Given the description of an element on the screen output the (x, y) to click on. 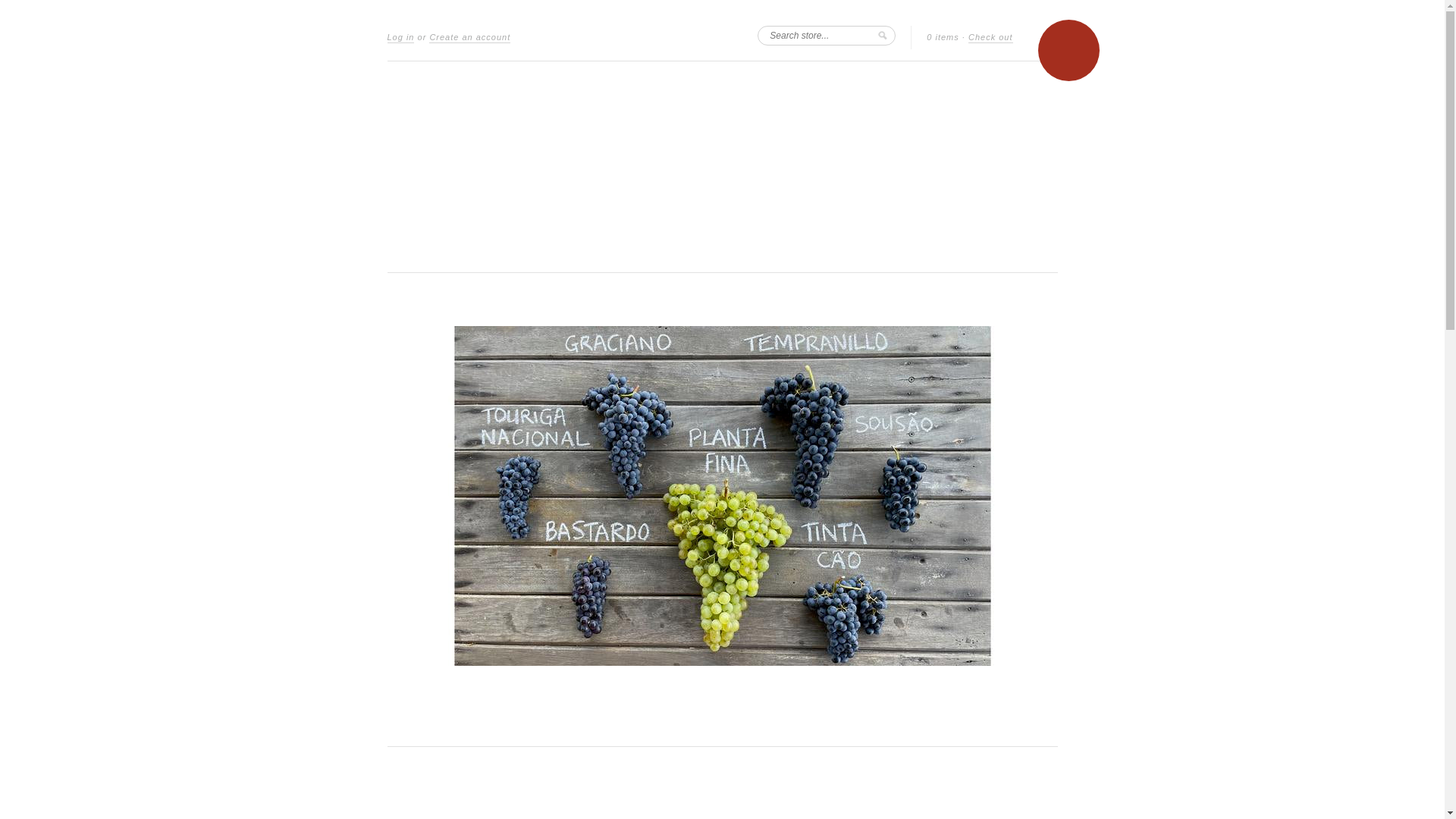
Create an account Element type: text (469, 37)
Check out Element type: text (990, 37)
0 items Element type: text (942, 37)
Log in Element type: text (400, 37)
